Given the description of an element on the screen output the (x, y) to click on. 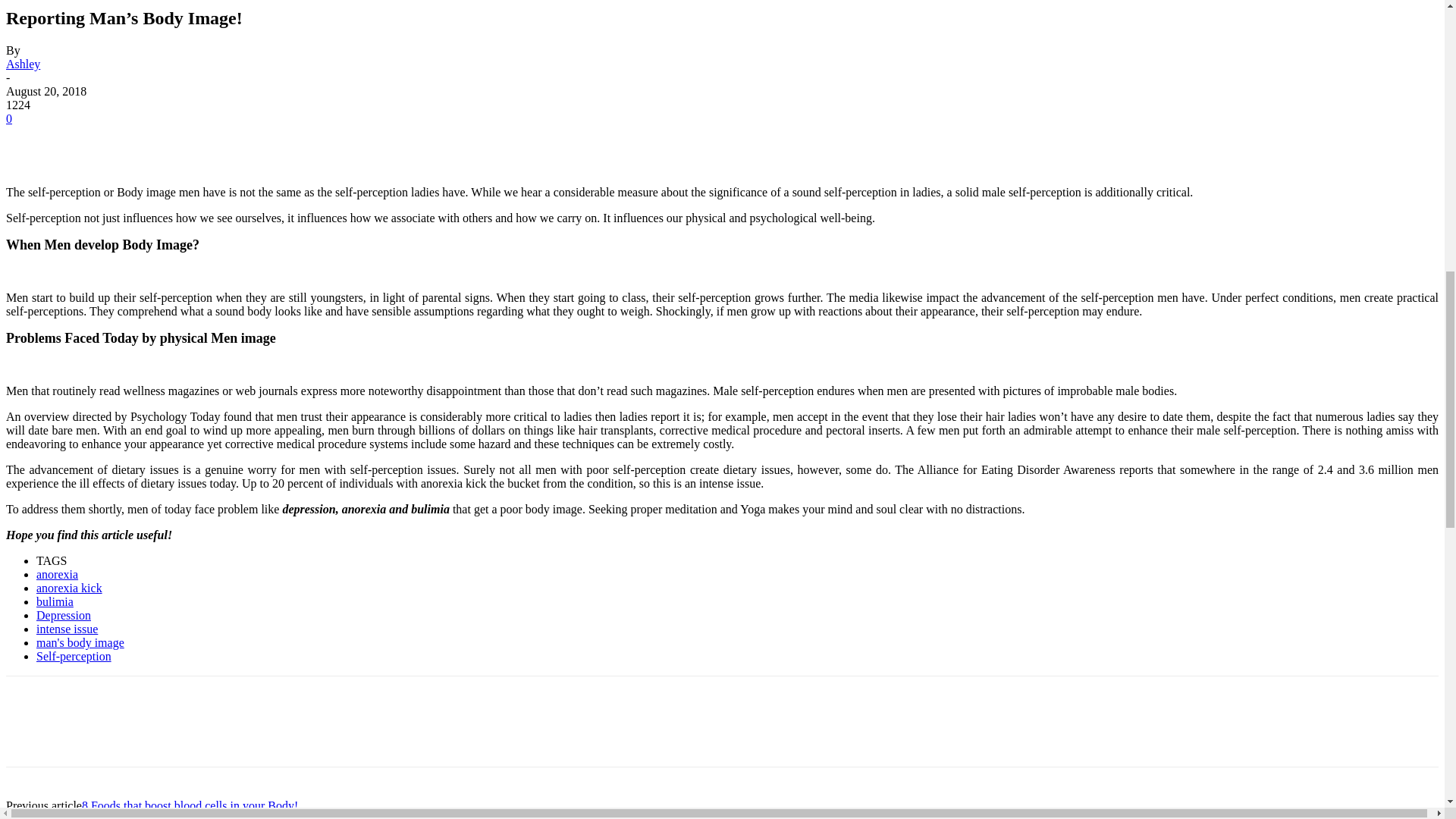
8 Foods that boost blood cells in your Body! (189, 805)
Depression (63, 615)
Is it significant to know the Cholesterol level? (174, 816)
anorexia (57, 574)
Self-perception (74, 656)
bottomFacebookLike (118, 700)
intense issue (66, 628)
bulimia (55, 601)
anorexia kick (68, 587)
Ashley (22, 63)
